Given the description of an element on the screen output the (x, y) to click on. 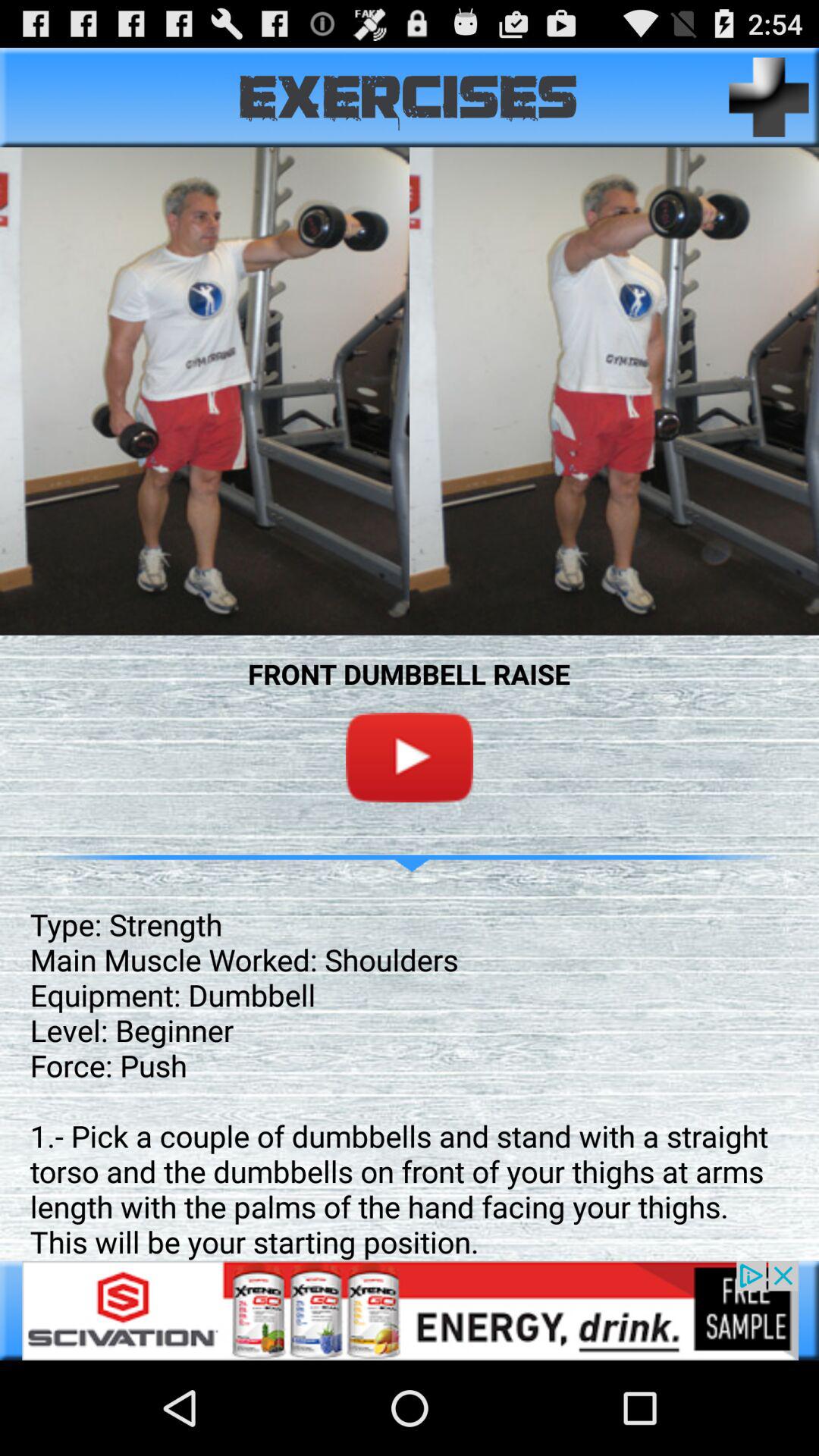
add exercise to workout routine (768, 97)
